Given the description of an element on the screen output the (x, y) to click on. 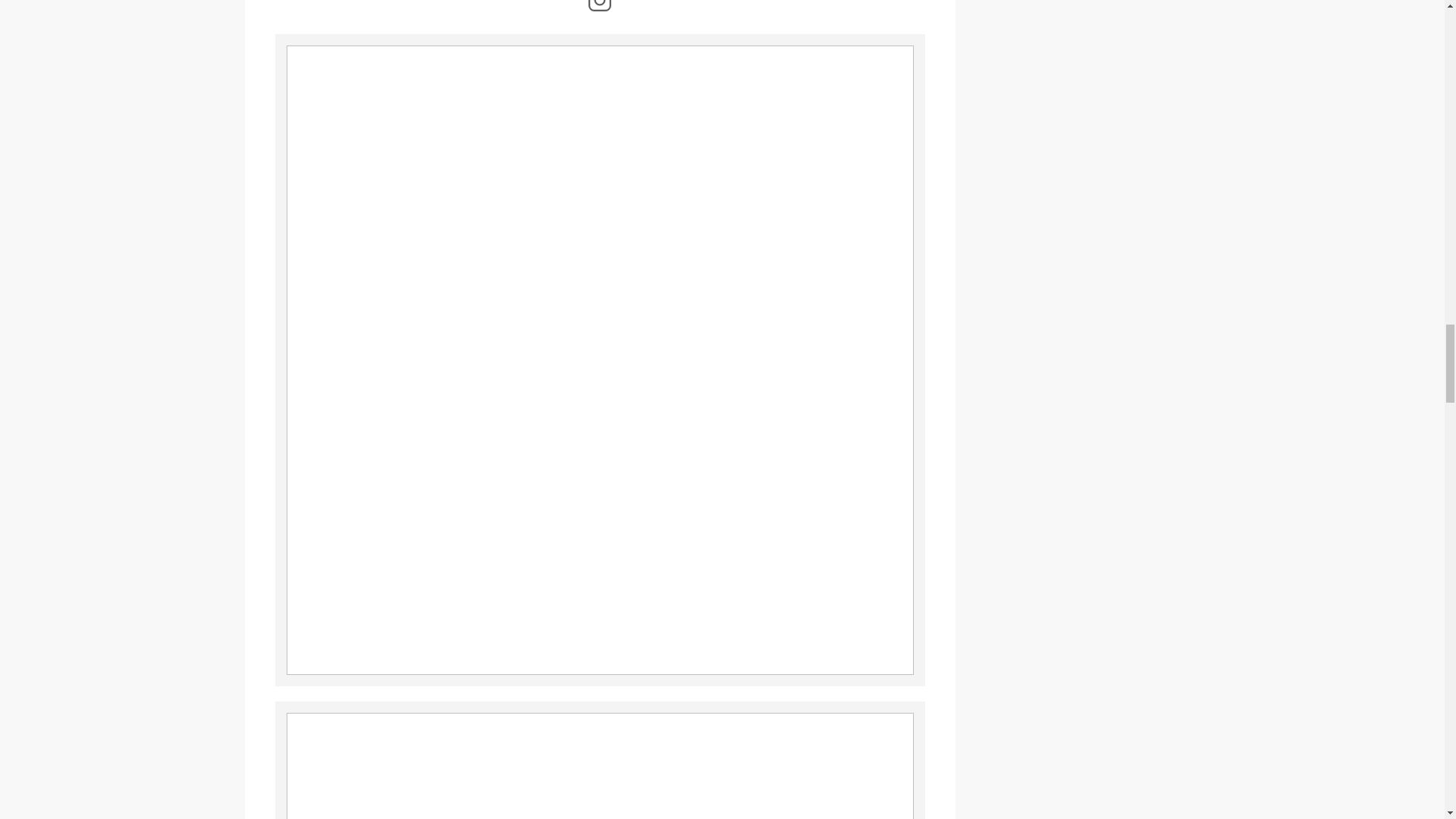
5-min (599, 760)
